Given the description of an element on the screen output the (x, y) to click on. 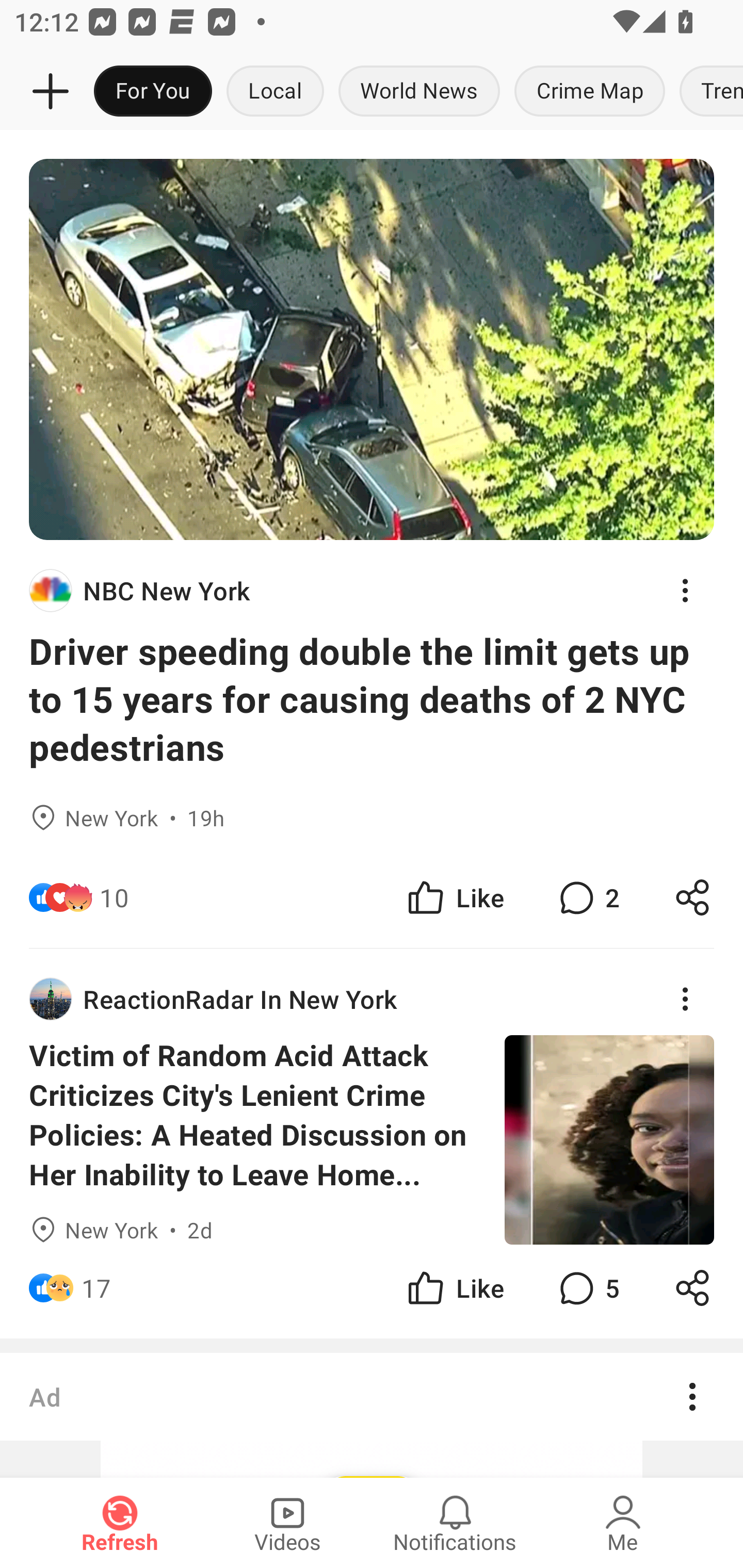
For You (152, 91)
Local (275, 91)
World News (419, 91)
Crime Map (589, 91)
10 (114, 897)
Like (454, 897)
2 (587, 897)
17 (95, 1287)
Like (454, 1287)
5 (587, 1287)
Videos (287, 1522)
Notifications (455, 1522)
Me (622, 1522)
